Given the description of an element on the screen output the (x, y) to click on. 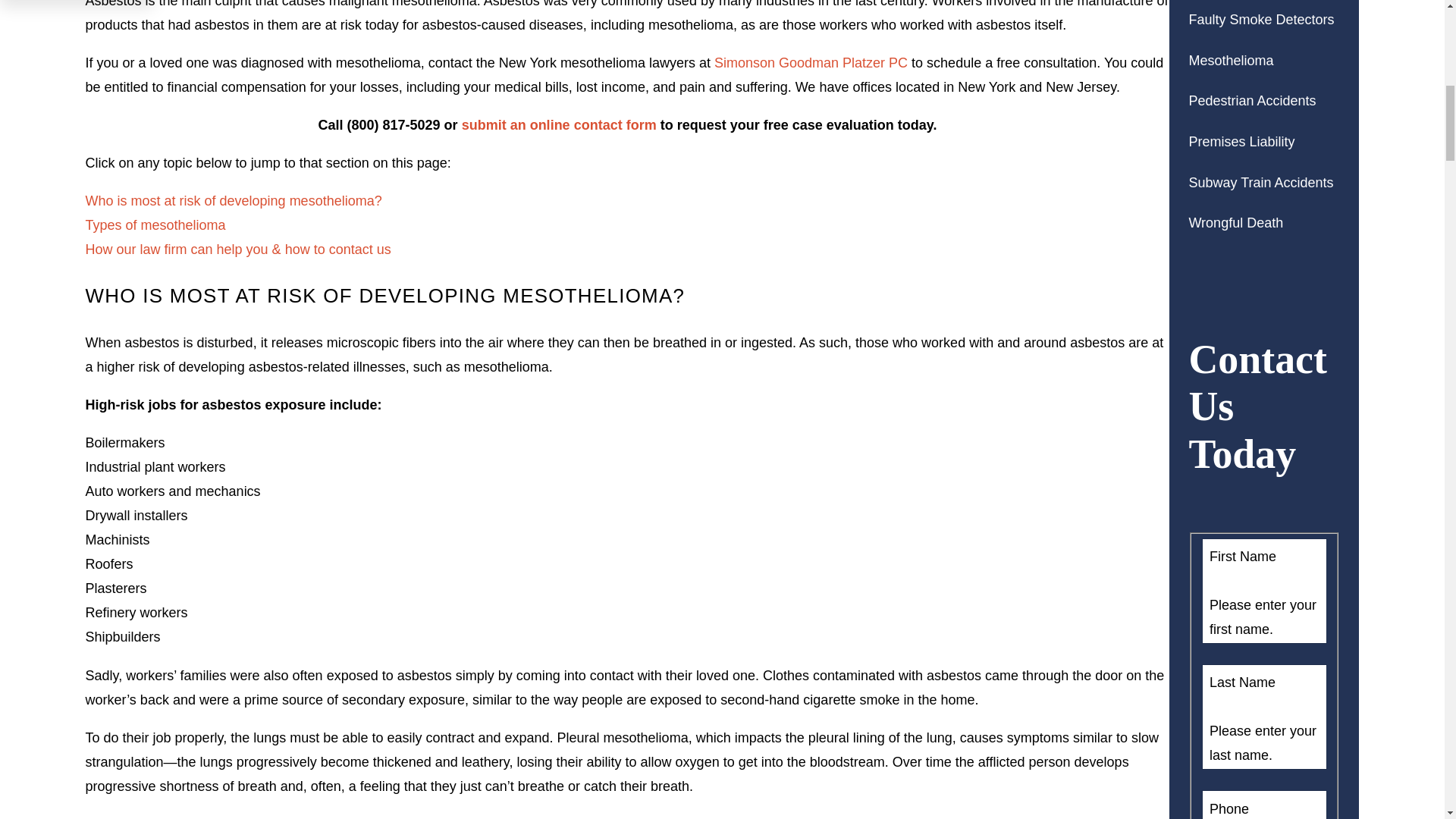
Open child menu of Premises Liability (1332, 141)
